Given the description of an element on the screen output the (x, y) to click on. 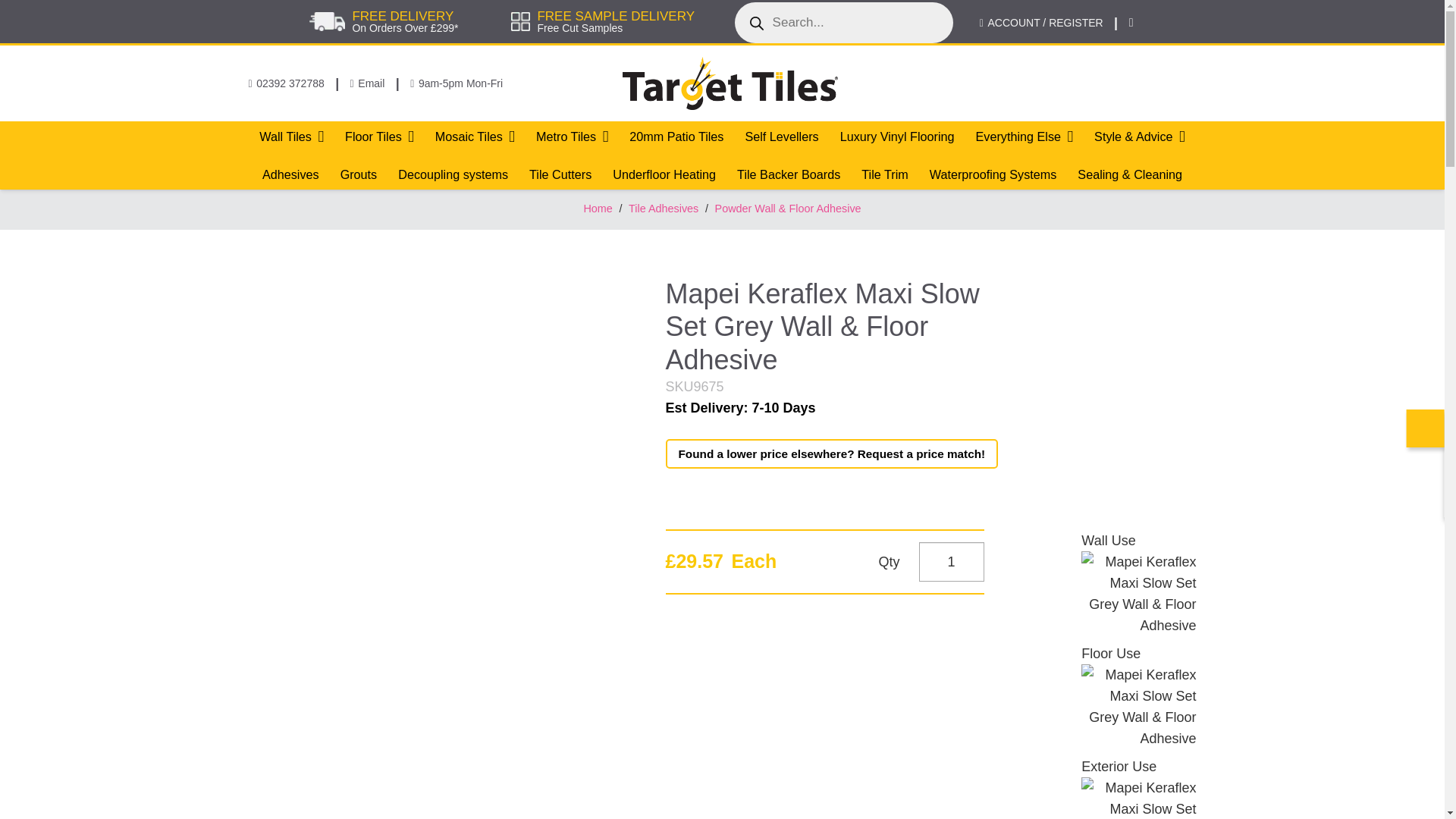
1 (951, 561)
Wall Tiles (291, 136)
FREE SAMPLE DELIVERY (615, 16)
Free Cut Samples (580, 28)
Floor Tiles (379, 136)
02392 372788 (286, 82)
FREE DELIVERY (402, 16)
Email (367, 82)
